Given the description of an element on the screen output the (x, y) to click on. 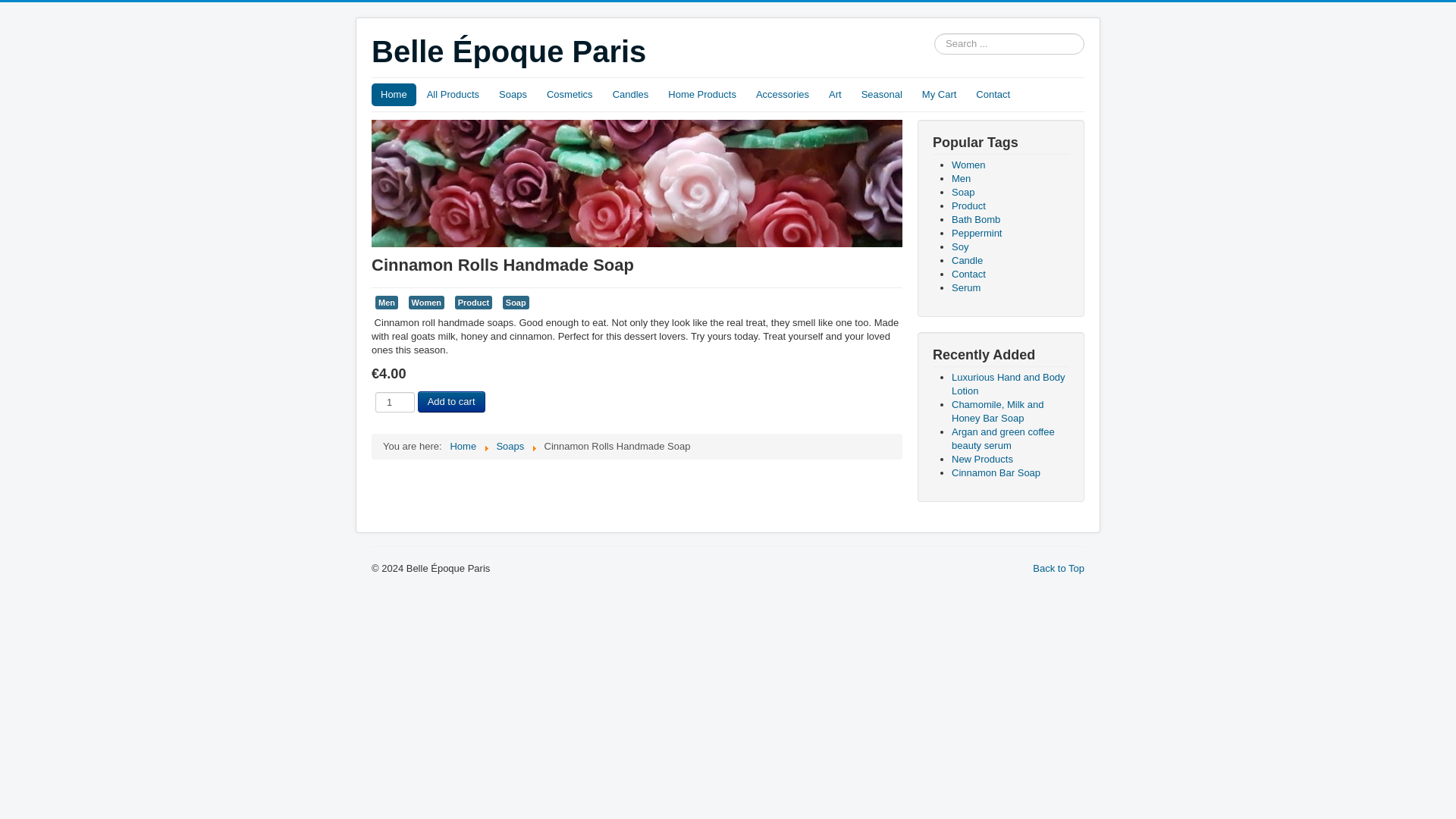
Women (426, 302)
Home (393, 94)
My Cart (939, 94)
Add to cart (450, 401)
Seasonal (881, 94)
Soaps (512, 94)
Soap (515, 302)
Home Products (702, 94)
Art (834, 94)
Home (462, 446)
Contact (992, 94)
Add to cart (450, 401)
Cosmetics (569, 94)
1 (394, 402)
Product (473, 302)
